Given the description of an element on the screen output the (x, y) to click on. 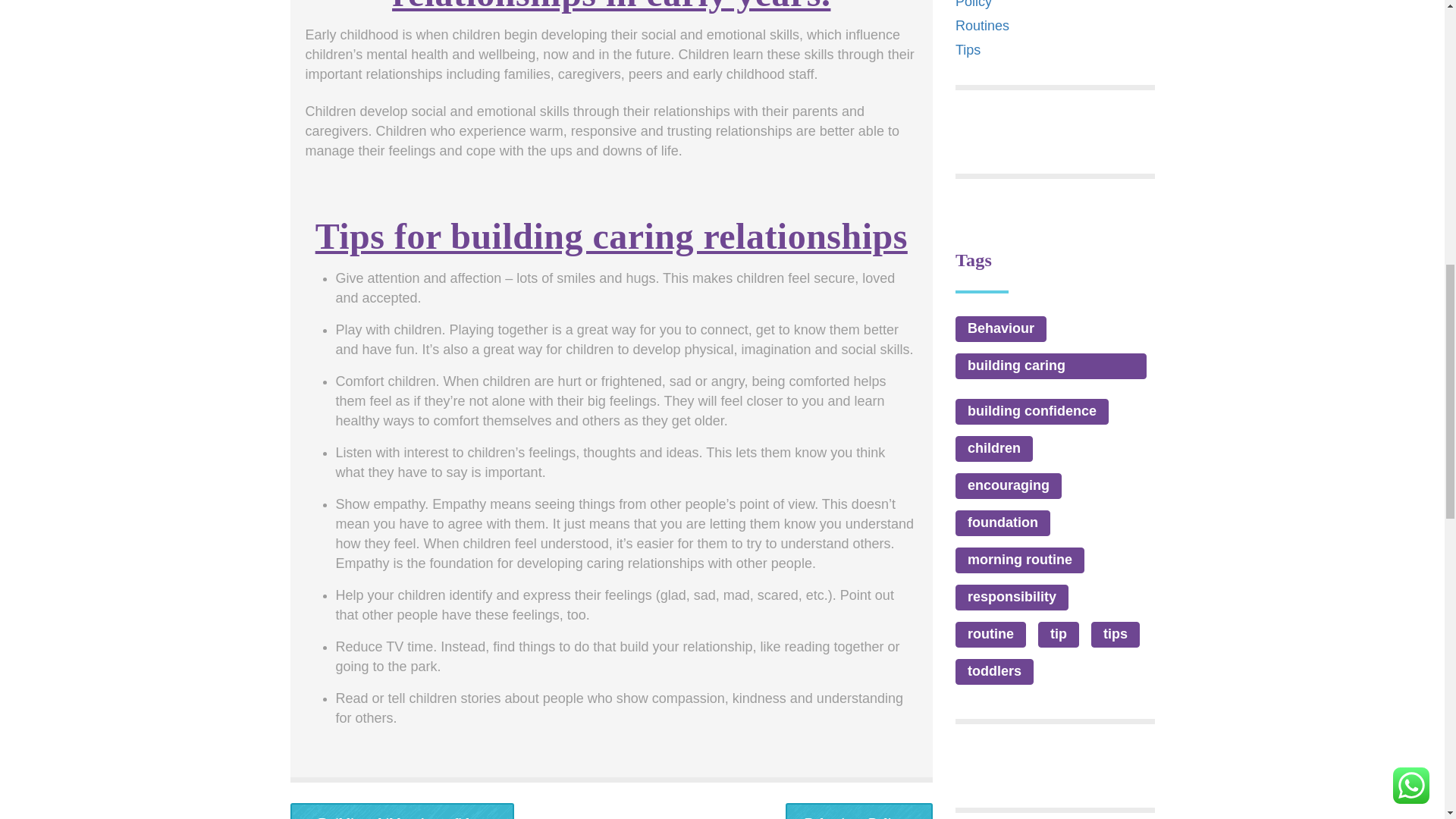
children (993, 448)
responsibility (1011, 597)
Routines (982, 25)
Tips (967, 49)
encouraging (1008, 485)
morning routine (1019, 560)
Behaviour Policy (859, 811)
Policy (973, 4)
foundation (1002, 523)
building caring relationships (1051, 365)
building confidence (1031, 411)
Behaviour (1000, 329)
